Given the description of an element on the screen output the (x, y) to click on. 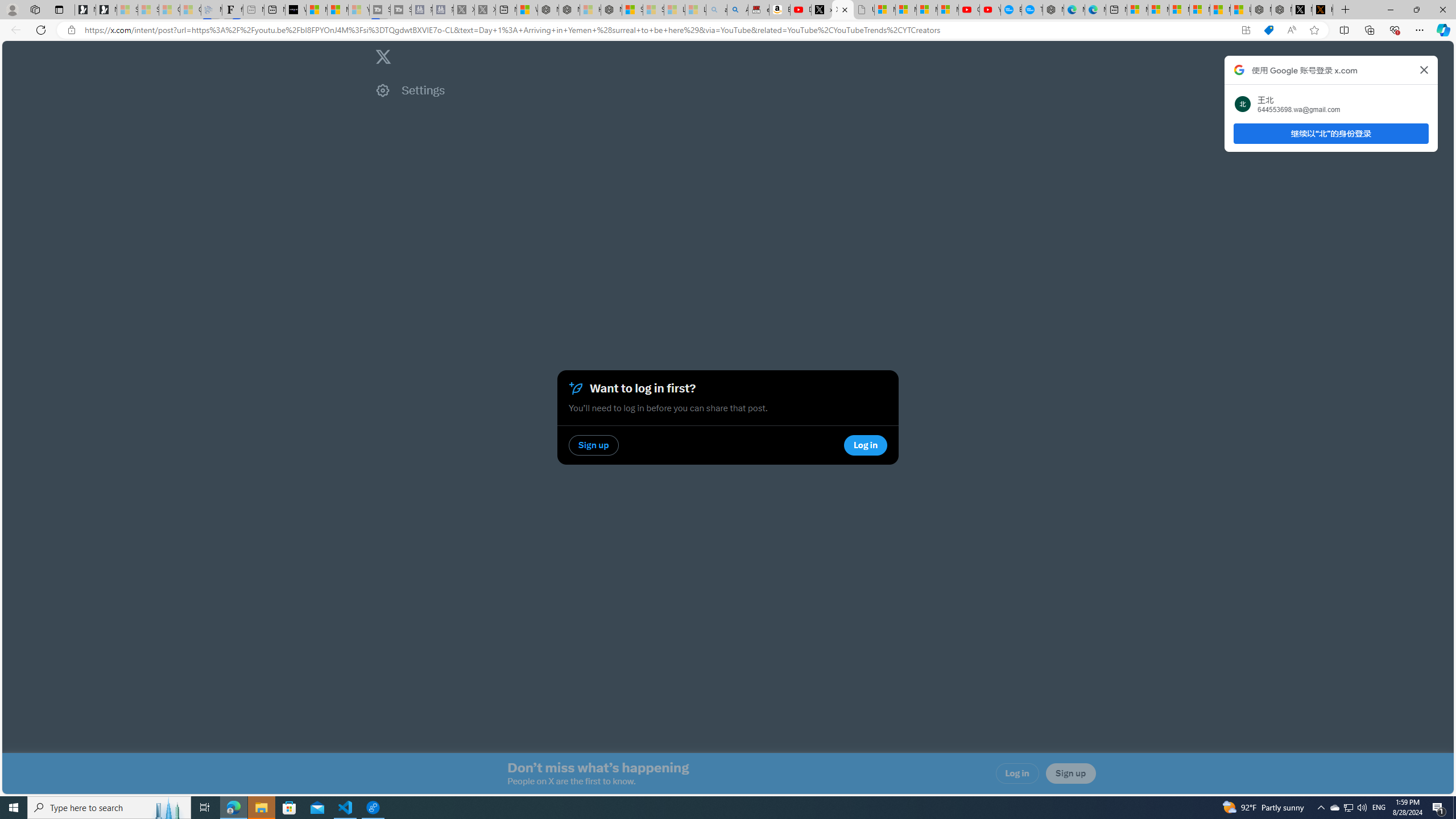
Class: Bz112c Bz112c-r9oPif (1423, 69)
Untitled (863, 9)
